Given the description of an element on the screen output the (x, y) to click on. 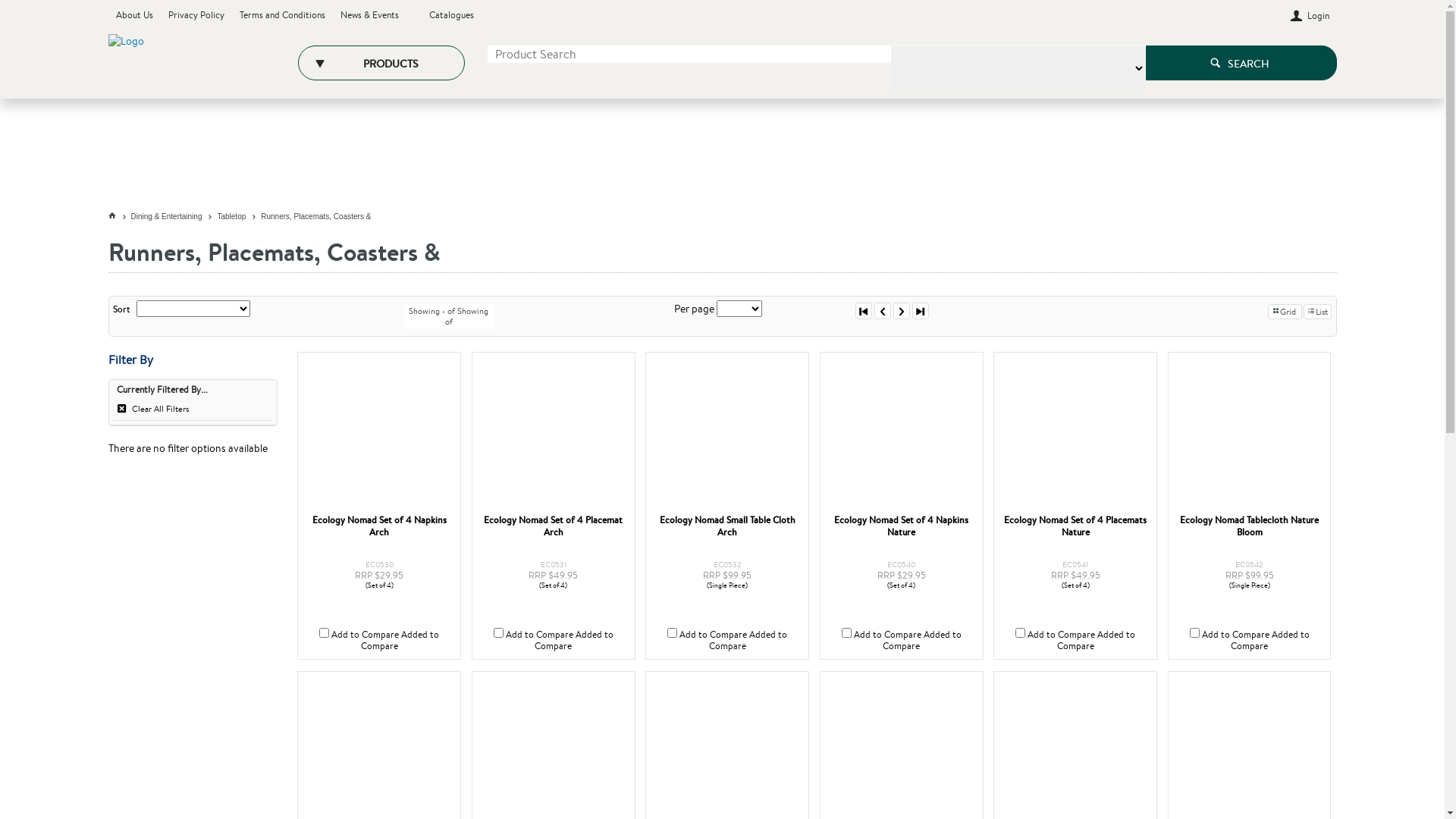
Add to Compare Element type: text (1235, 634)
Ecology Nomad Set of 4 Placemats Nature Element type: text (1075, 526)
Catalogues Element type: text (451, 14)
Added to Compare Element type: text (921, 639)
Ecology Nomad Small Table Cloth Arch Element type: text (727, 526)
Ecology Nomad Tablecloth Nature Bloom Element type: text (1248, 526)
Tabletop Element type: text (238, 217)
Ecology Nomad Set of 4 Placemats Nature Element type: hover (1075, 433)
Clear All Filters Element type: text (192, 409)
Ecology Nomad Set of 4 Napkins Nature Element type: hover (901, 433)
Login Element type: text (1309, 15)
Added to Compare Element type: text (1096, 639)
News & Events Element type: text (368, 14)
Terms and Conditions Element type: text (282, 14)
About Us Element type: text (133, 14)
Dining & Entertaining Element type: text (173, 217)
Added to Compare Element type: text (573, 639)
Ecology Nomad Small Table Cloth Arch Element type: hover (726, 433)
SEARCH Element type: text (1240, 62)
Ecology Nomad Set of 4 Placemat Arch Element type: text (552, 526)
Add to Compare Element type: text (539, 634)
Ecology Nomad Set of 4 Napkins Nature Element type: text (901, 526)
Added to Compare Element type: text (1269, 639)
Add to Compare Element type: text (887, 634)
Privacy Policy Element type: text (196, 14)
Add to Compare Element type: text (1061, 634)
Added to Compare Element type: text (399, 639)
Added to Compare Element type: text (748, 639)
Add to Compare Element type: text (712, 634)
Ecology Nomad Set of 4 Napkins Arch Element type: hover (378, 433)
Ecology Nomad Set of 4 Placemat Arch Element type: hover (553, 433)
Ecology Nomad Tablecloth Nature Bloom Element type: hover (1249, 433)
Ecology Nomad Set of 4 Napkins Arch Element type: text (379, 526)
Add to Compare Element type: text (364, 634)
